Given the description of an element on the screen output the (x, y) to click on. 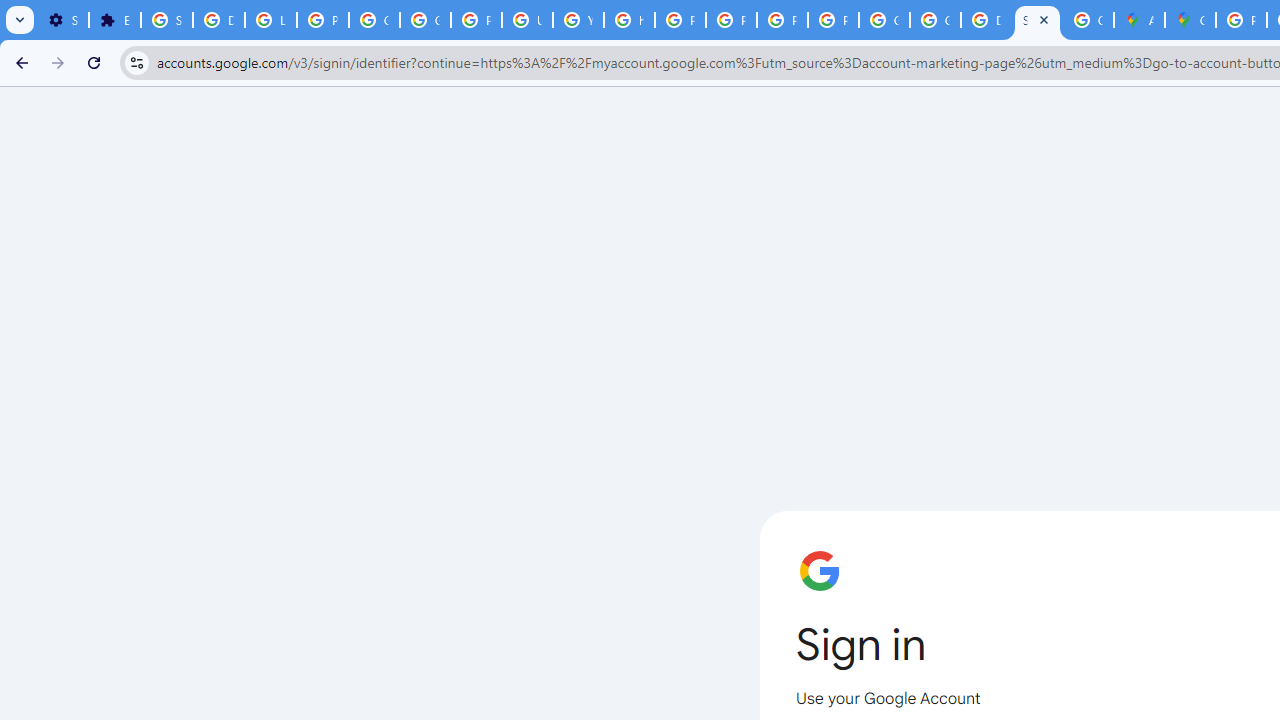
Google Account Help (424, 20)
